Given the description of an element on the screen output the (x, y) to click on. 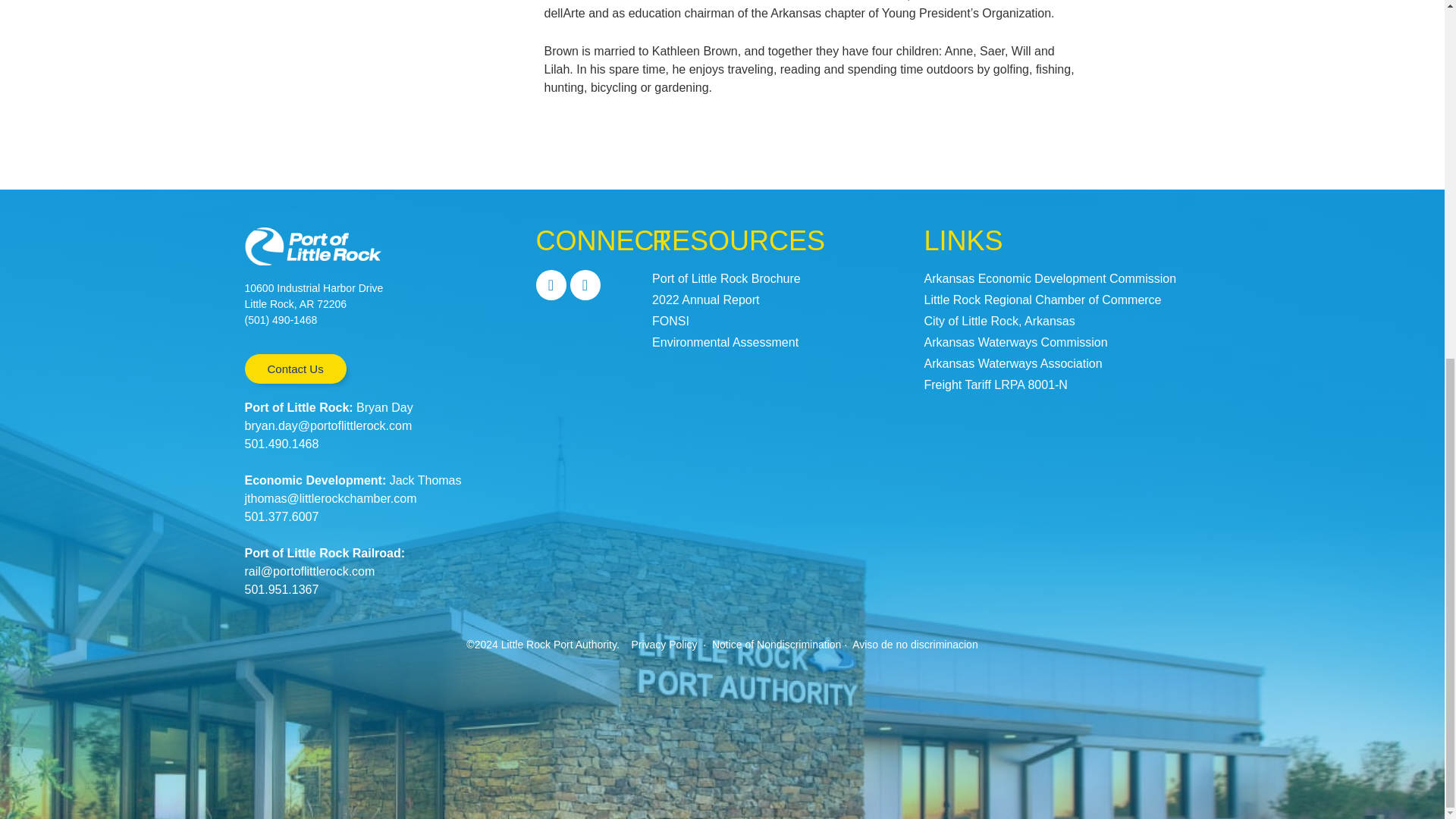
Port of Little Rock (312, 246)
